Given the description of an element on the screen output the (x, y) to click on. 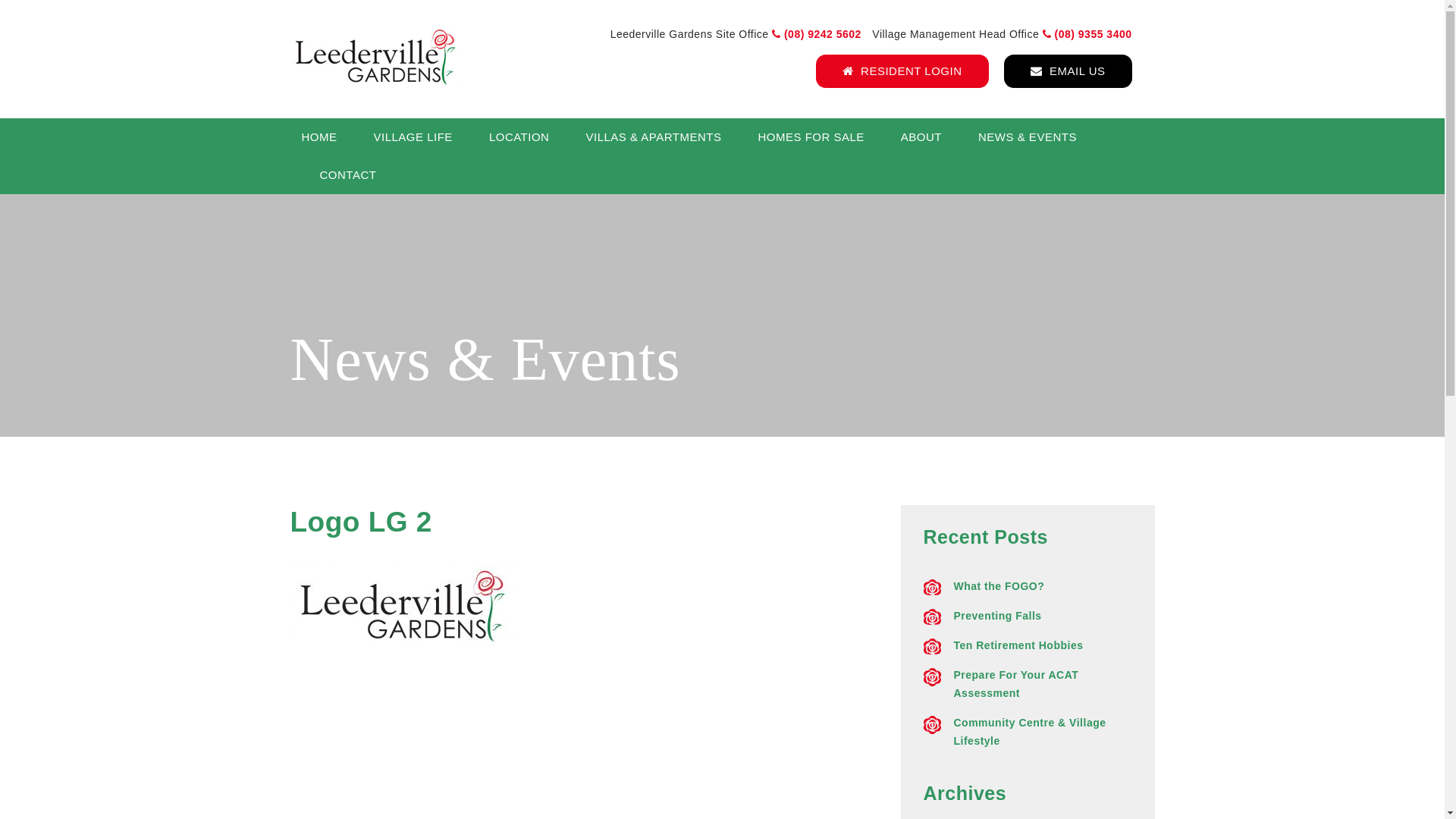
Prepare For Your ACAT Assessment Element type: text (1016, 683)
RESIDENT LOGIN Element type: text (901, 70)
(08) 9242 5602 Element type: text (820, 34)
What the FOGO? Element type: text (998, 586)
VILLAGE LIFE Element type: text (412, 137)
LOCATION Element type: text (518, 137)
NEWS & EVENTS Element type: text (1027, 137)
(08) 9355 3400 Element type: text (1087, 34)
CONTACT Element type: text (338, 175)
Ten Retirement Hobbies Element type: text (1018, 645)
HOMES FOR SALE Element type: text (810, 137)
EMAIL US Element type: text (1068, 70)
Preventing Falls Element type: text (997, 615)
VILLAS & APARTMENTS Element type: text (653, 137)
HOME Element type: text (328, 137)
ABOUT Element type: text (921, 137)
Community Centre & Village Lifestyle Element type: text (1029, 731)
